Given the description of an element on the screen output the (x, y) to click on. 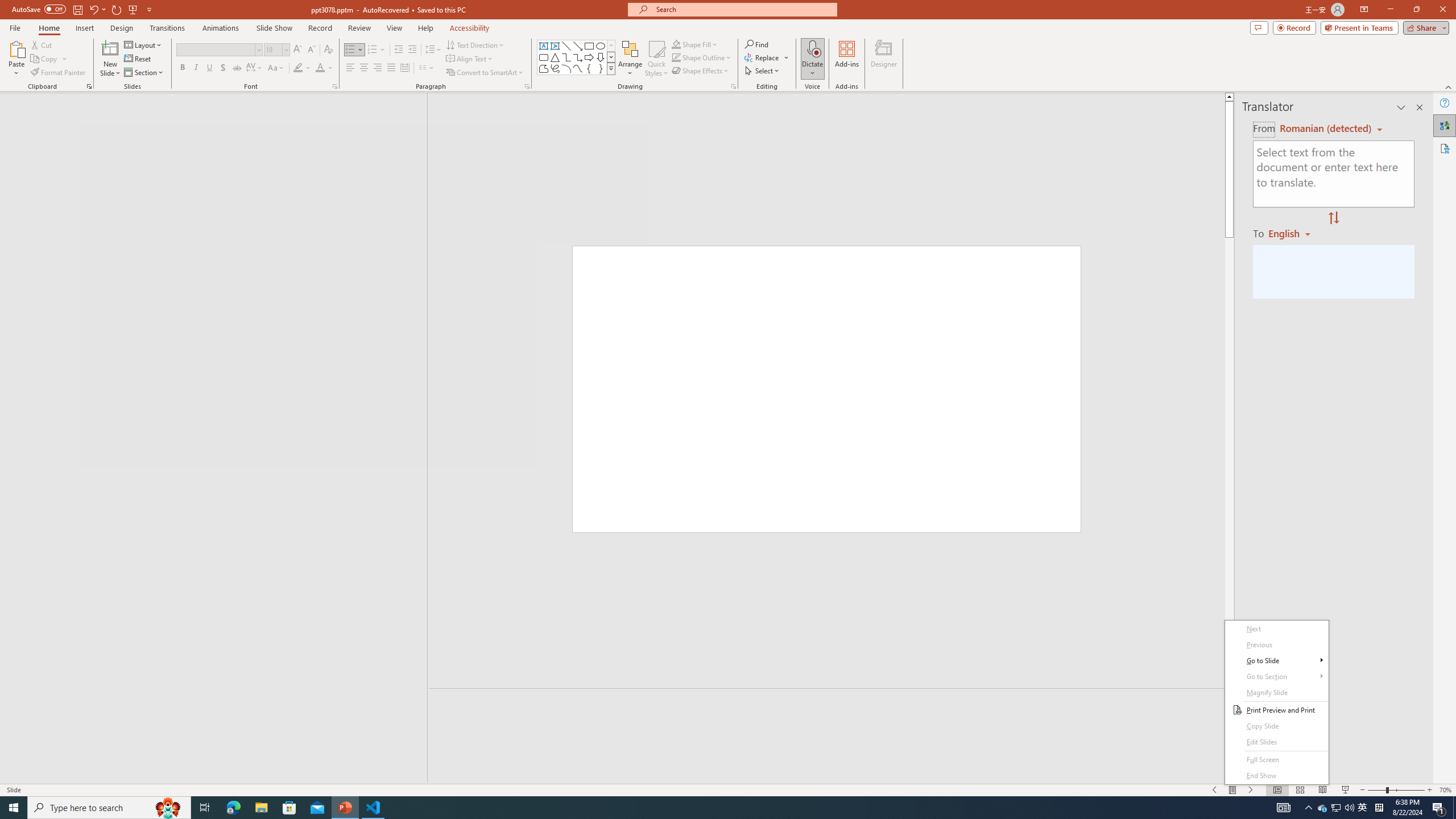
End Show (1276, 775)
Shape Fill Dark Green, Accent 2 (675, 44)
Outline (218, 122)
Shape Effects (700, 69)
Edit Slides (1276, 742)
